Given the description of an element on the screen output the (x, y) to click on. 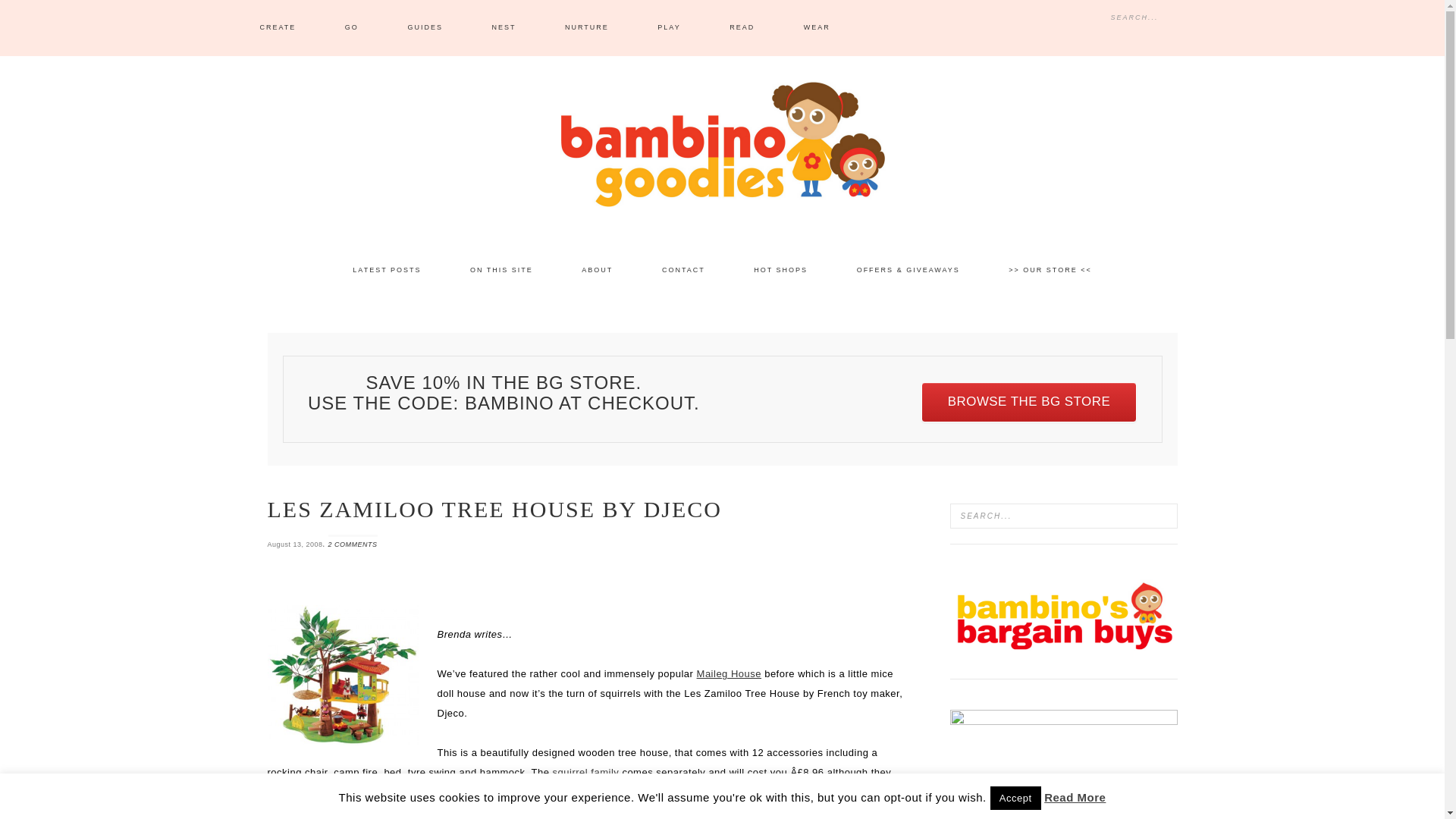
dj09218large (342, 675)
NEST (503, 28)
LATEST POSTS (387, 270)
GUIDES (424, 28)
ON THIS SITE (501, 270)
NURTURE (586, 28)
PLAY (668, 28)
BAMBINO GOODIES (722, 143)
WEAR (816, 28)
GO (351, 28)
READ (741, 28)
